Given the description of an element on the screen output the (x, y) to click on. 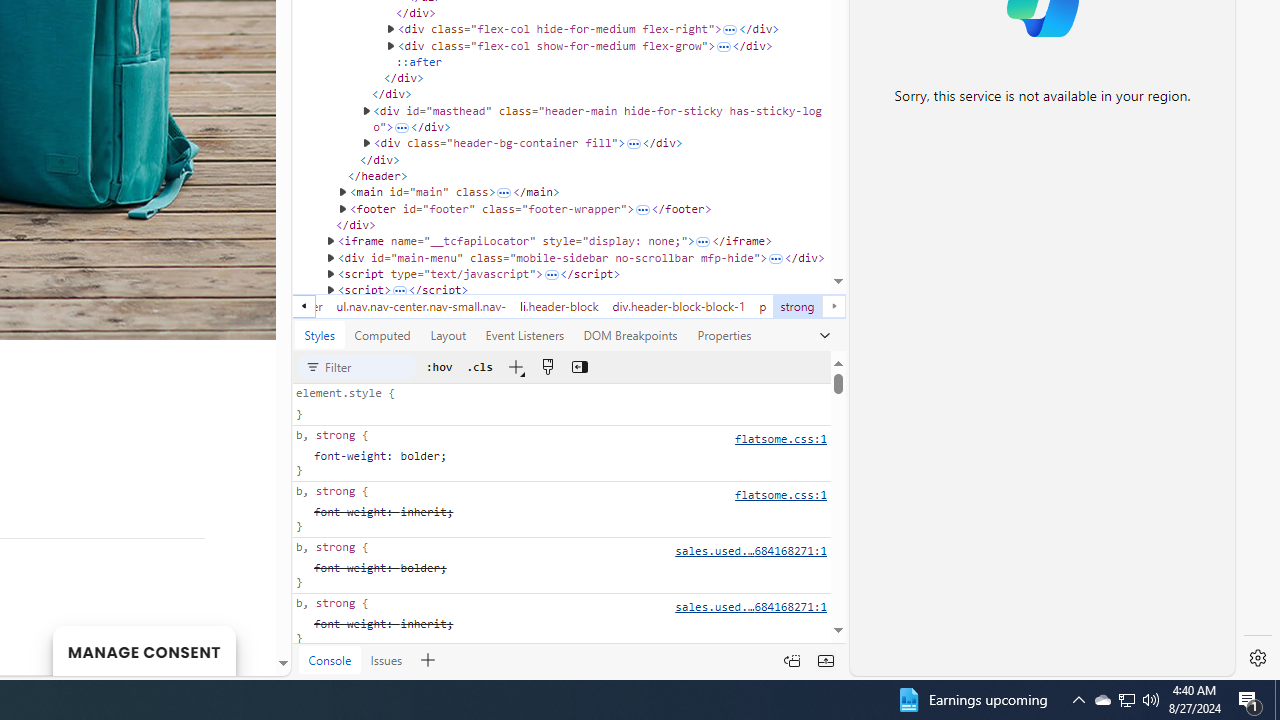
strong (797, 305)
ul.nav.nav-center.nav-small.nav- (421, 306)
Show Computed Styles sidebar (578, 366)
Filter (369, 367)
Toggle Element State (439, 366)
Layout (448, 335)
strong (797, 306)
b, strong, css selector (560, 622)
More tools (427, 659)
DOM Breakpoints (630, 335)
ul.nav.nav-center.nav-small.nav- (420, 305)
Expand (399, 290)
Computed (383, 335)
div.flex-col.hide-for-medium.flex-center (217, 305)
Settings (1258, 658)
